Given the description of an element on the screen output the (x, y) to click on. 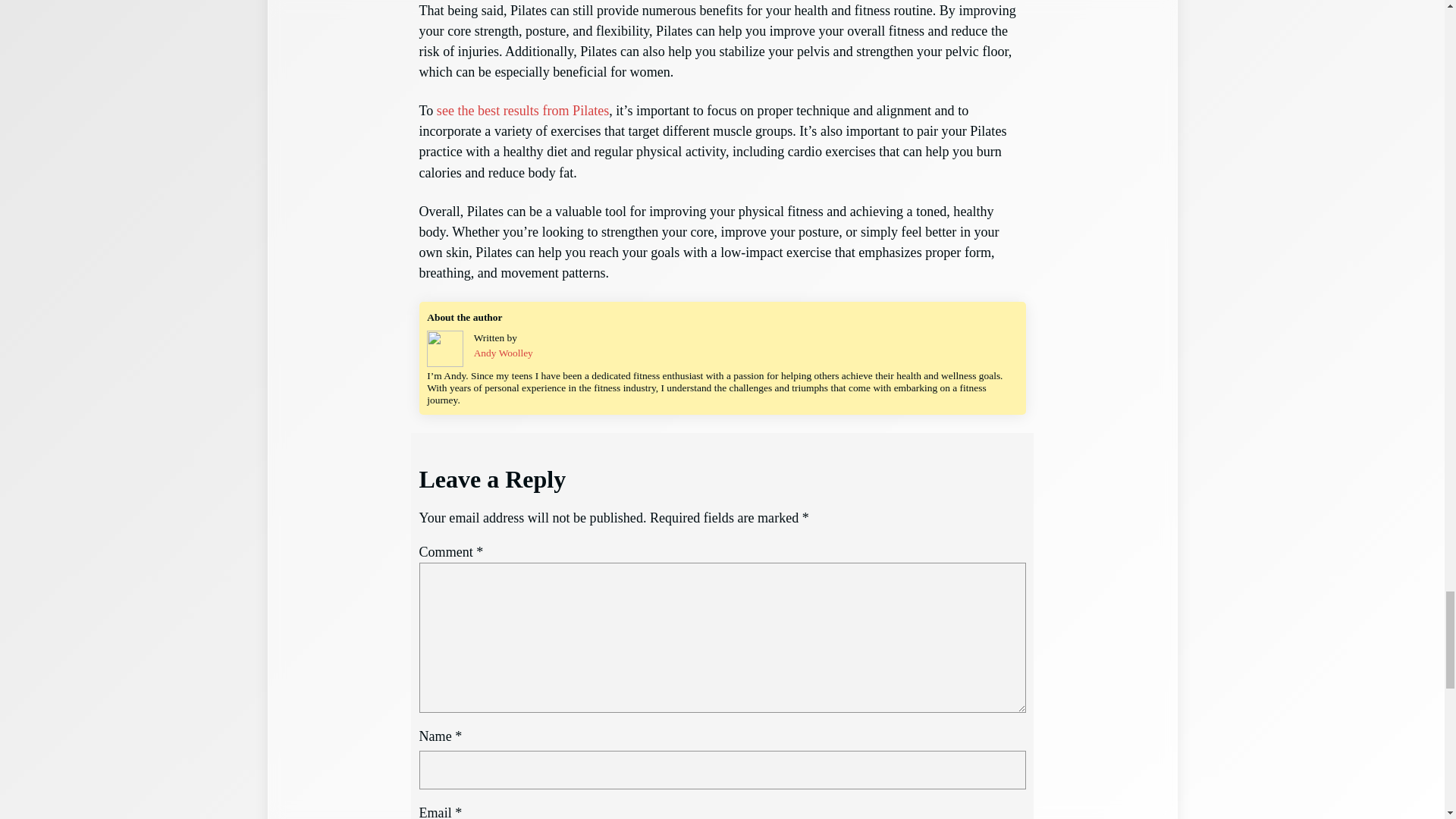
Andy Woolley (503, 352)
see the best results from Pilates (522, 110)
